Given the description of an element on the screen output the (x, y) to click on. 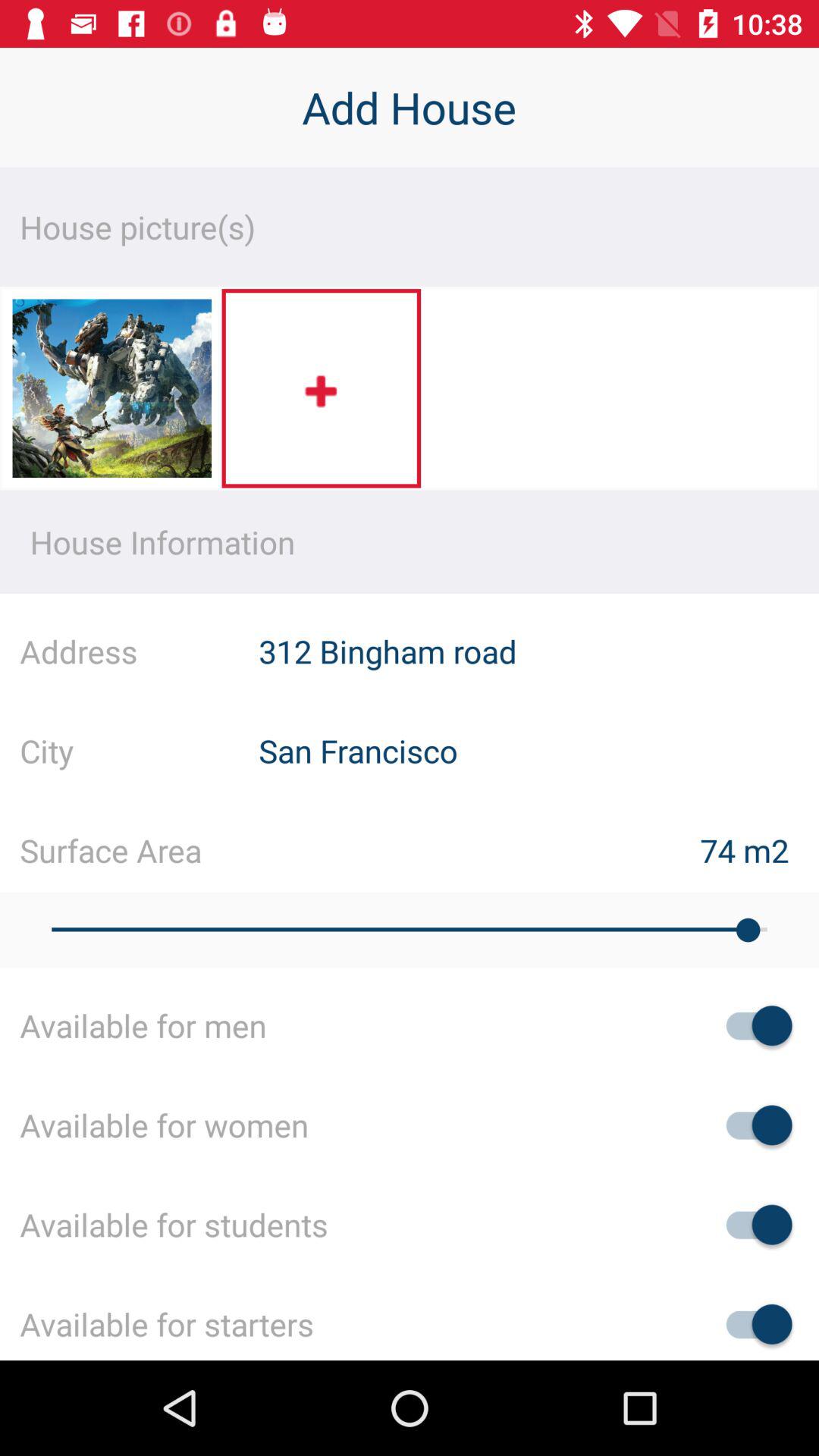
toggle for starters (751, 1324)
